Given the description of an element on the screen output the (x, y) to click on. 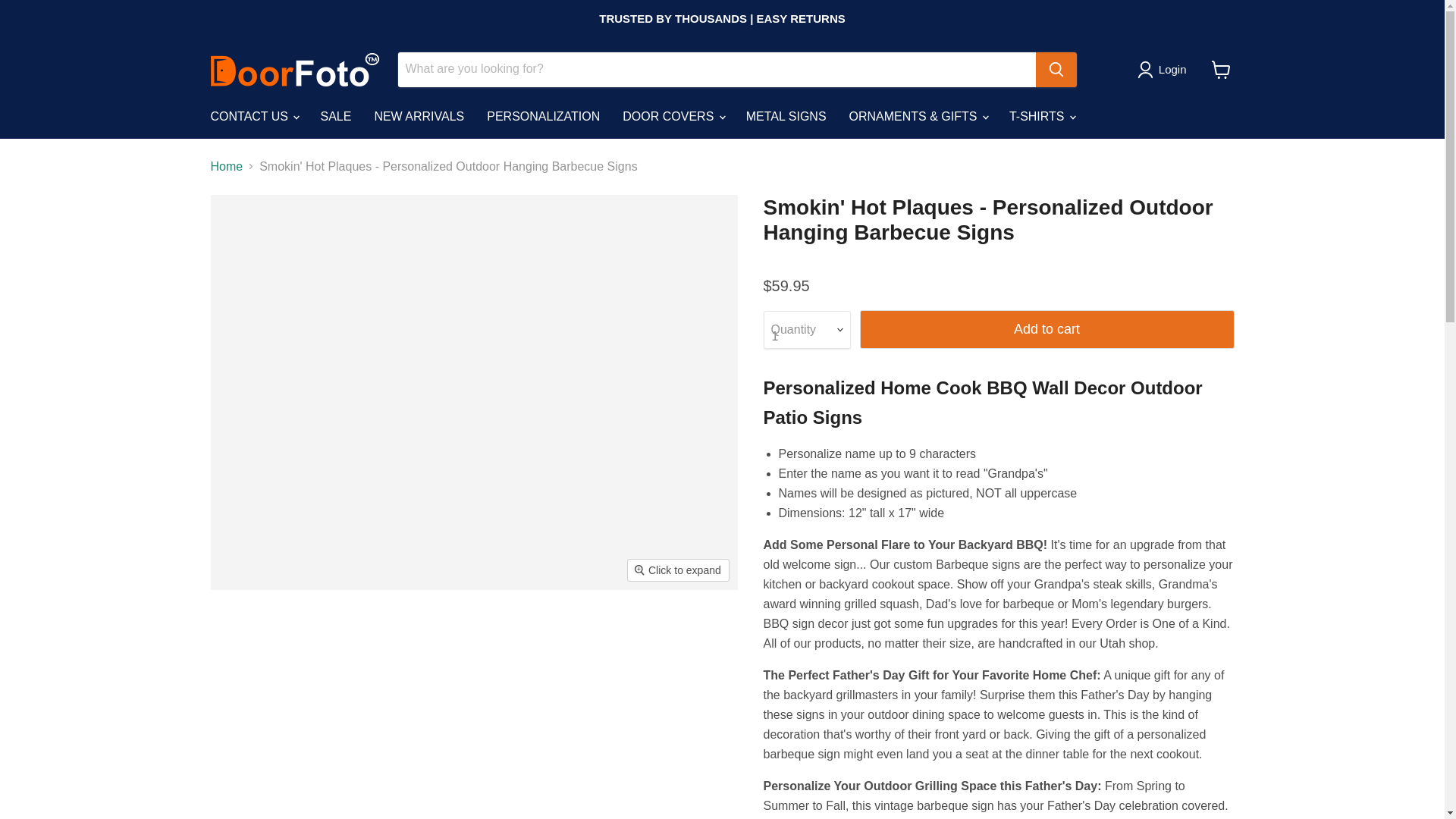
NEW ARRIVALS (419, 115)
Login (1172, 69)
SALE (335, 115)
PERSONALIZATION (543, 115)
View cart (1221, 69)
